Given the description of an element on the screen output the (x, y) to click on. 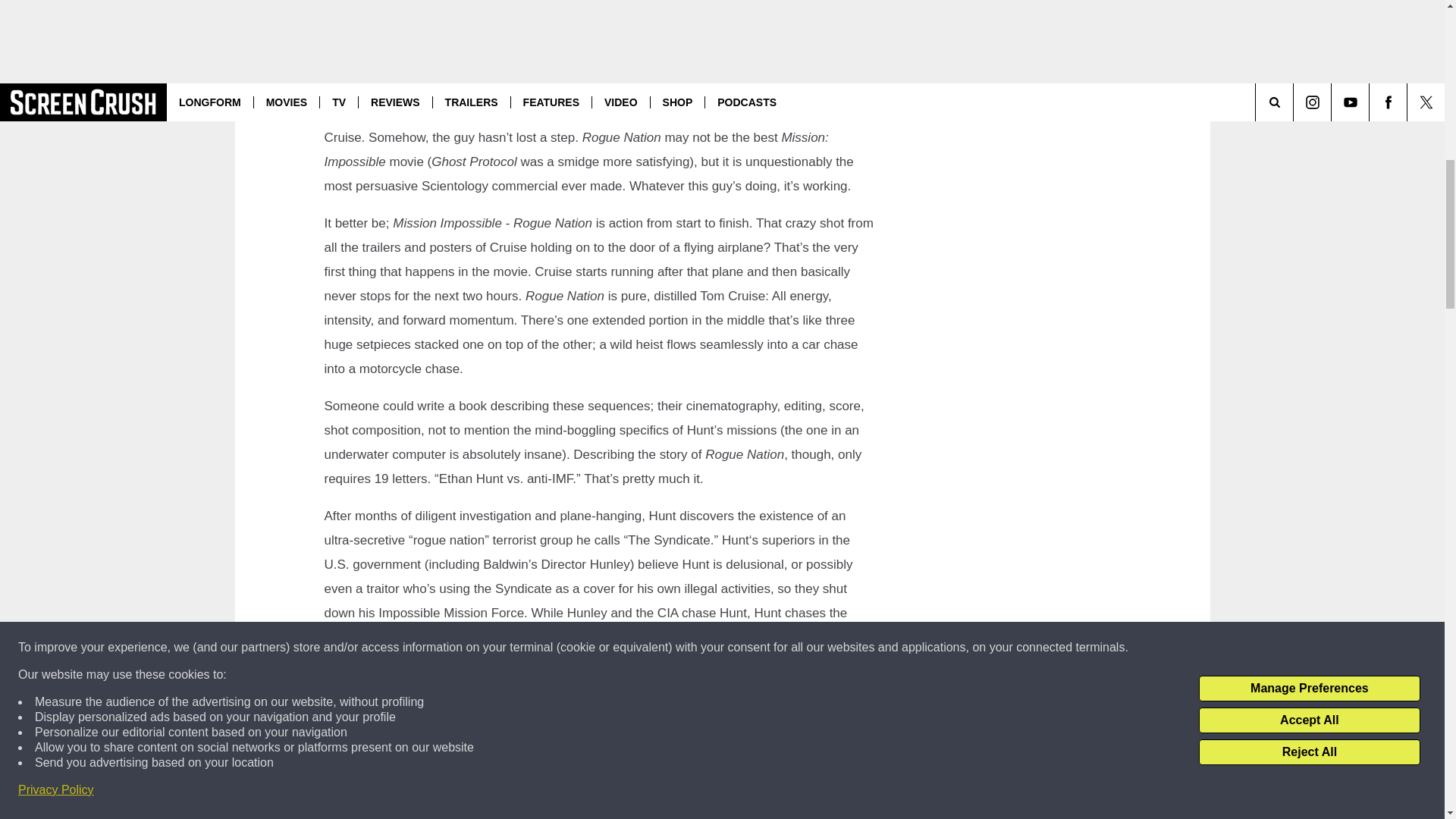
Jeremy Renner (500, 795)
Rogue Nation (661, 64)
Mission: Impossible -  (552, 64)
holding his breath underwater for over six minutes (479, 88)
Simon Pegg (475, 816)
